Given the description of an element on the screen output the (x, y) to click on. 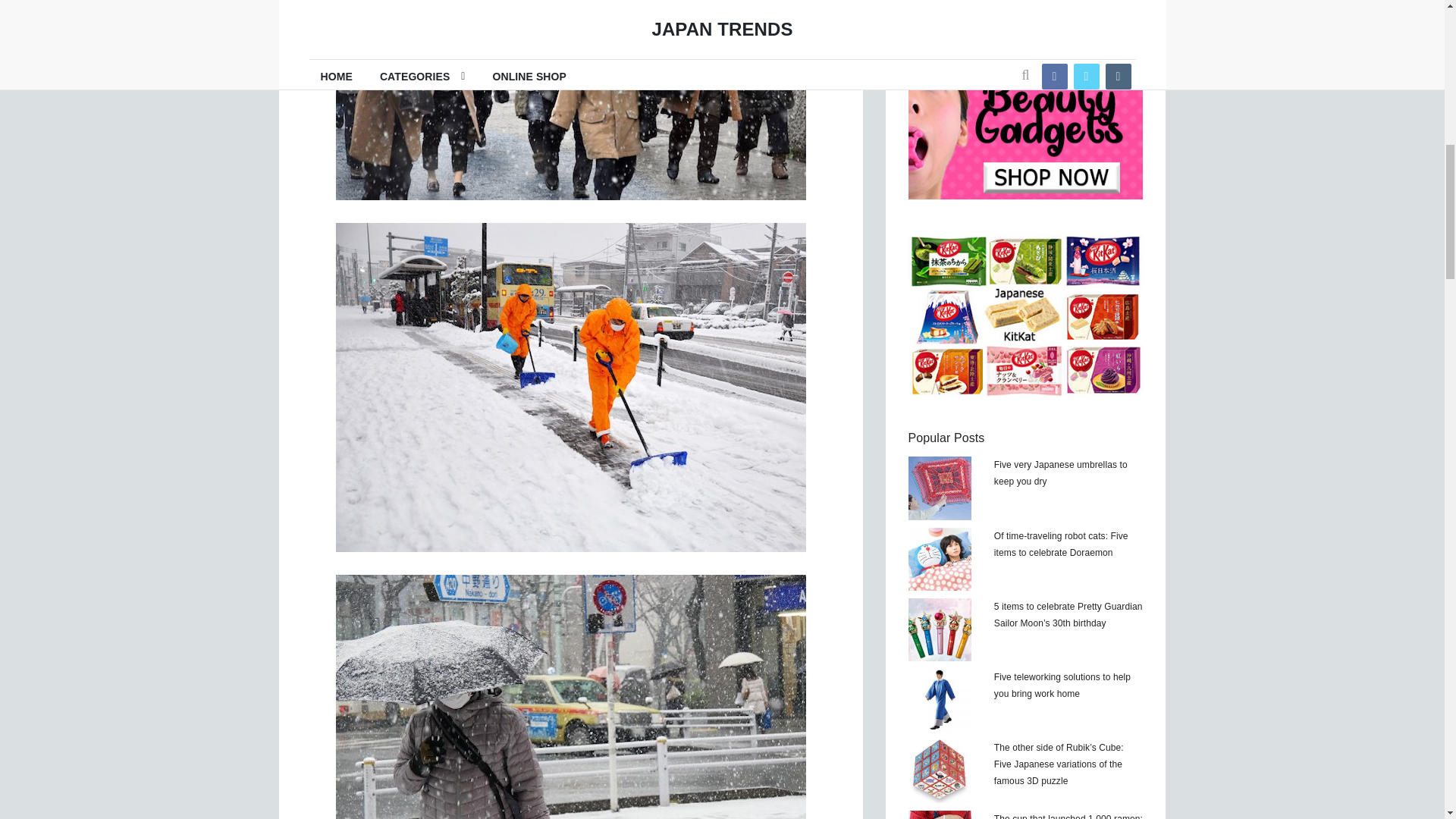
Five very Japanese umbrellas to keep you dry (939, 487)
